Given the description of an element on the screen output the (x, y) to click on. 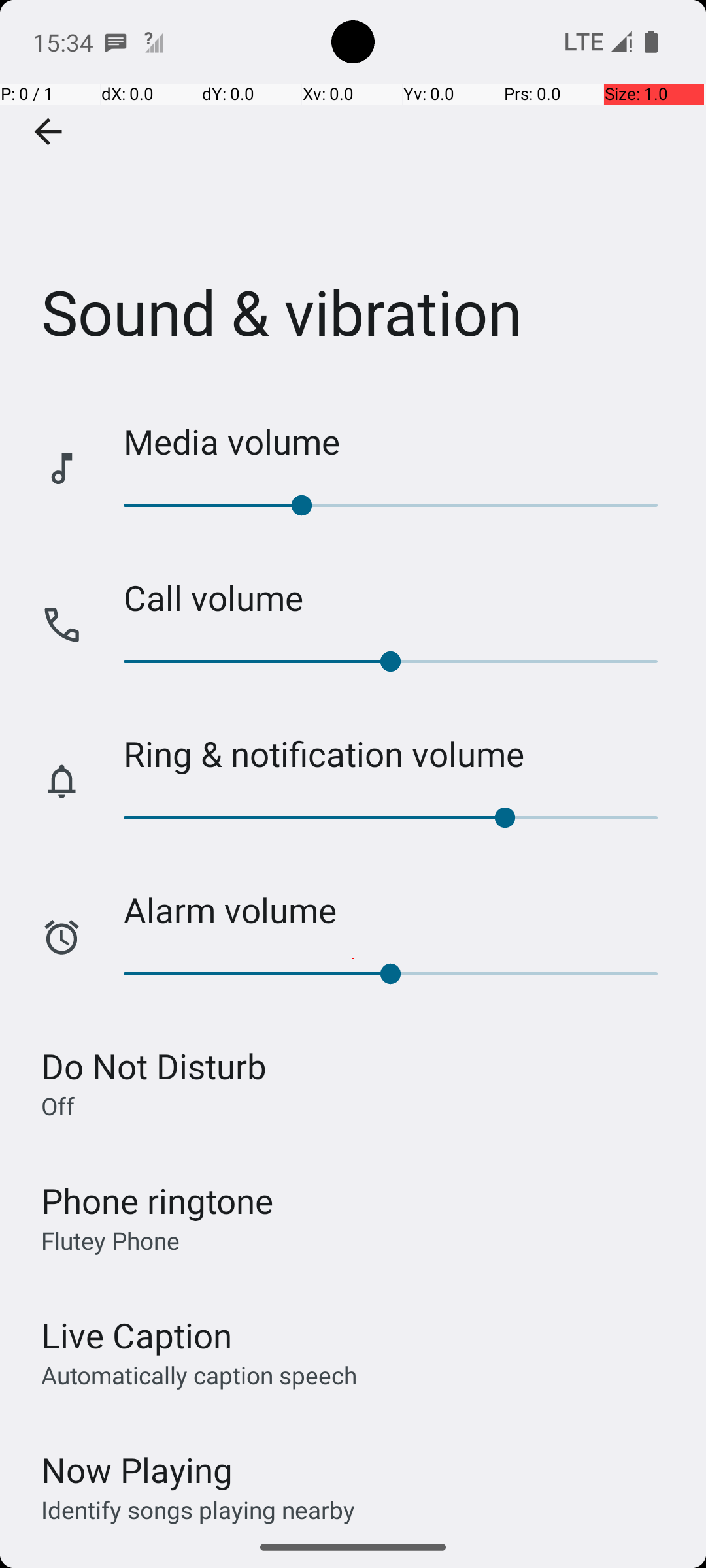
Now Playing Element type: android.widget.TextView (136, 1469)
Identify songs playing nearby Element type: android.widget.TextView (197, 1509)
